Given the description of an element on the screen output the (x, y) to click on. 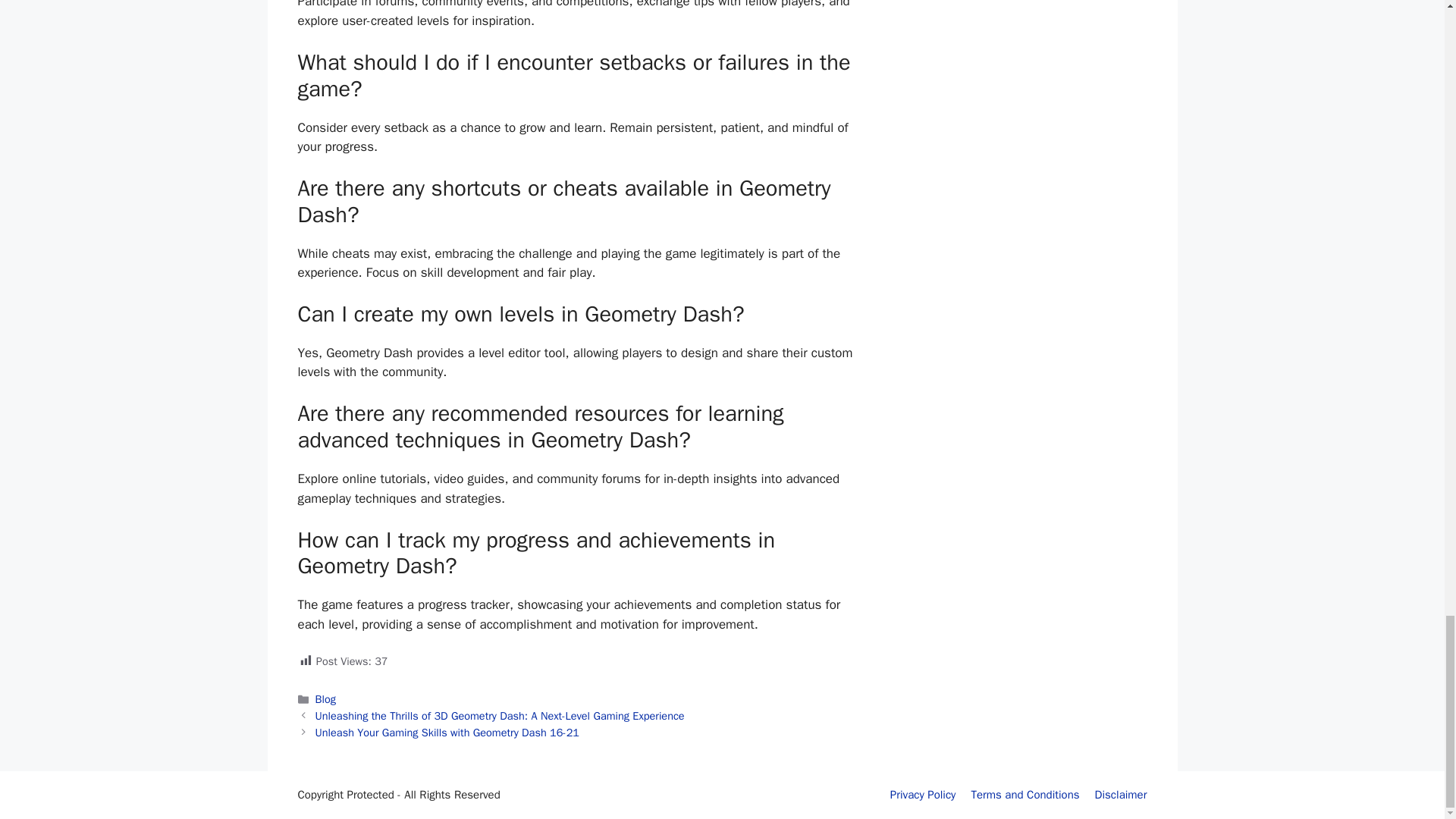
Terms and Conditions (1024, 794)
Unleash Your Gaming Skills with Geometry Dash 16-21 (447, 732)
Blog (325, 698)
Privacy Policy (922, 794)
Disclaimer (1120, 794)
